Given the description of an element on the screen output the (x, y) to click on. 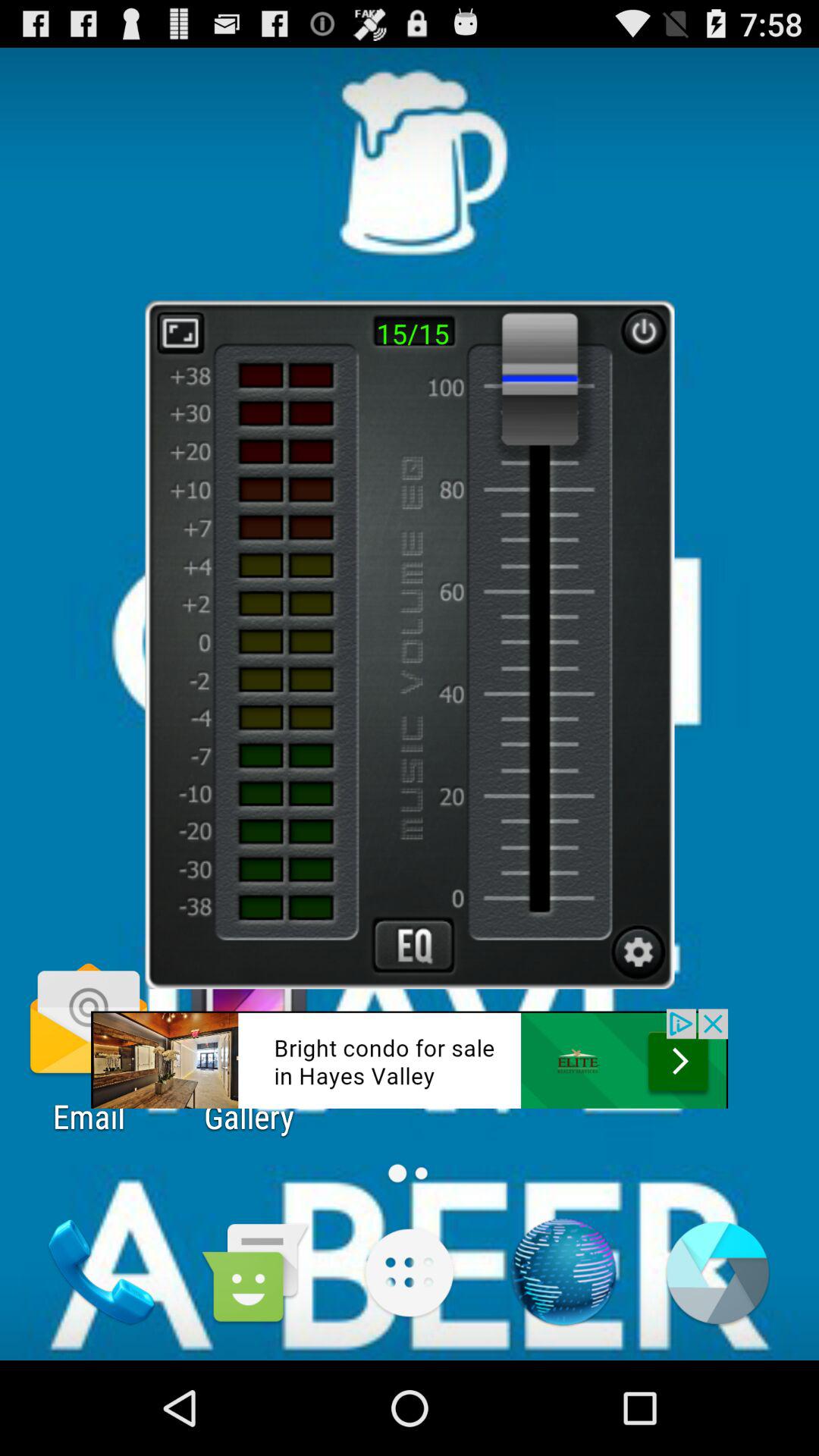
zoom button (179, 332)
